Given the description of an element on the screen output the (x, y) to click on. 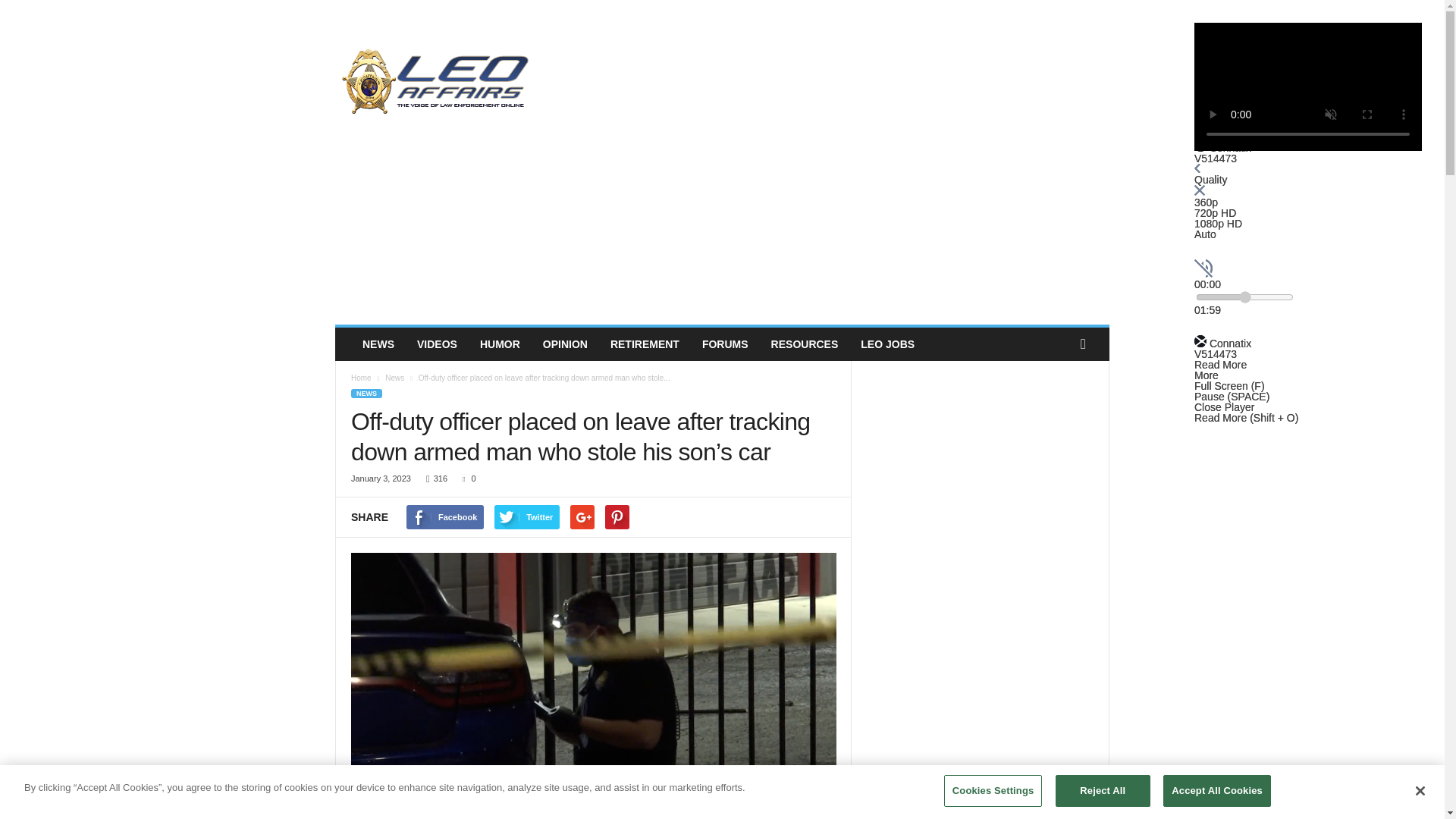
NEWS (378, 344)
OPINION (564, 344)
HUMOR (499, 344)
RETIREMENT (644, 344)
LeoAffairs (437, 80)
VIDEOS (437, 344)
RESOURCES (805, 344)
View all posts in News (394, 377)
FORUMS (725, 344)
